Given the description of an element on the screen output the (x, y) to click on. 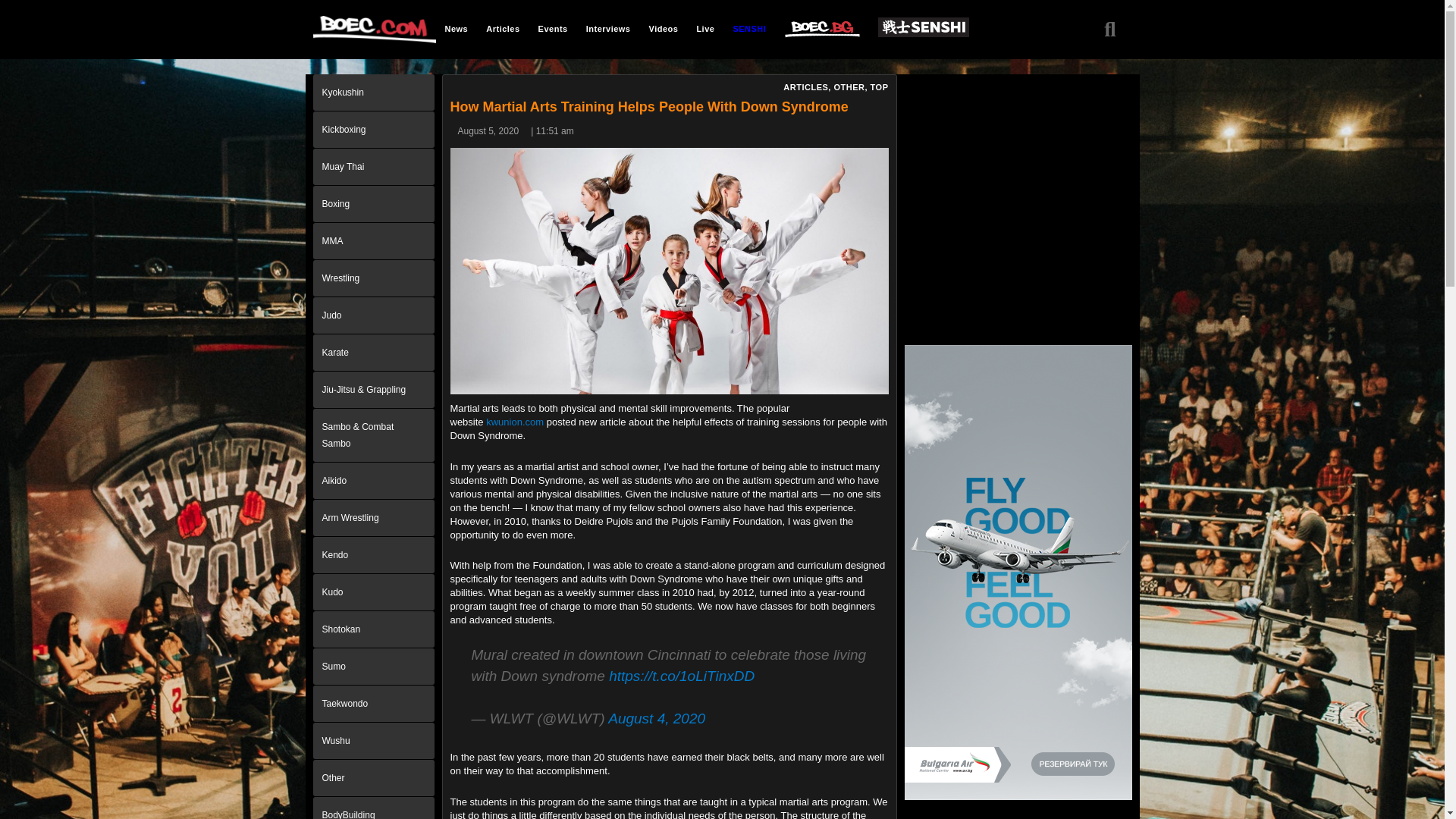
Interviews (608, 28)
SENSHI (748, 28)
News (456, 28)
Articles (502, 28)
Events (552, 28)
Videos (663, 28)
